Given the description of an element on the screen output the (x, y) to click on. 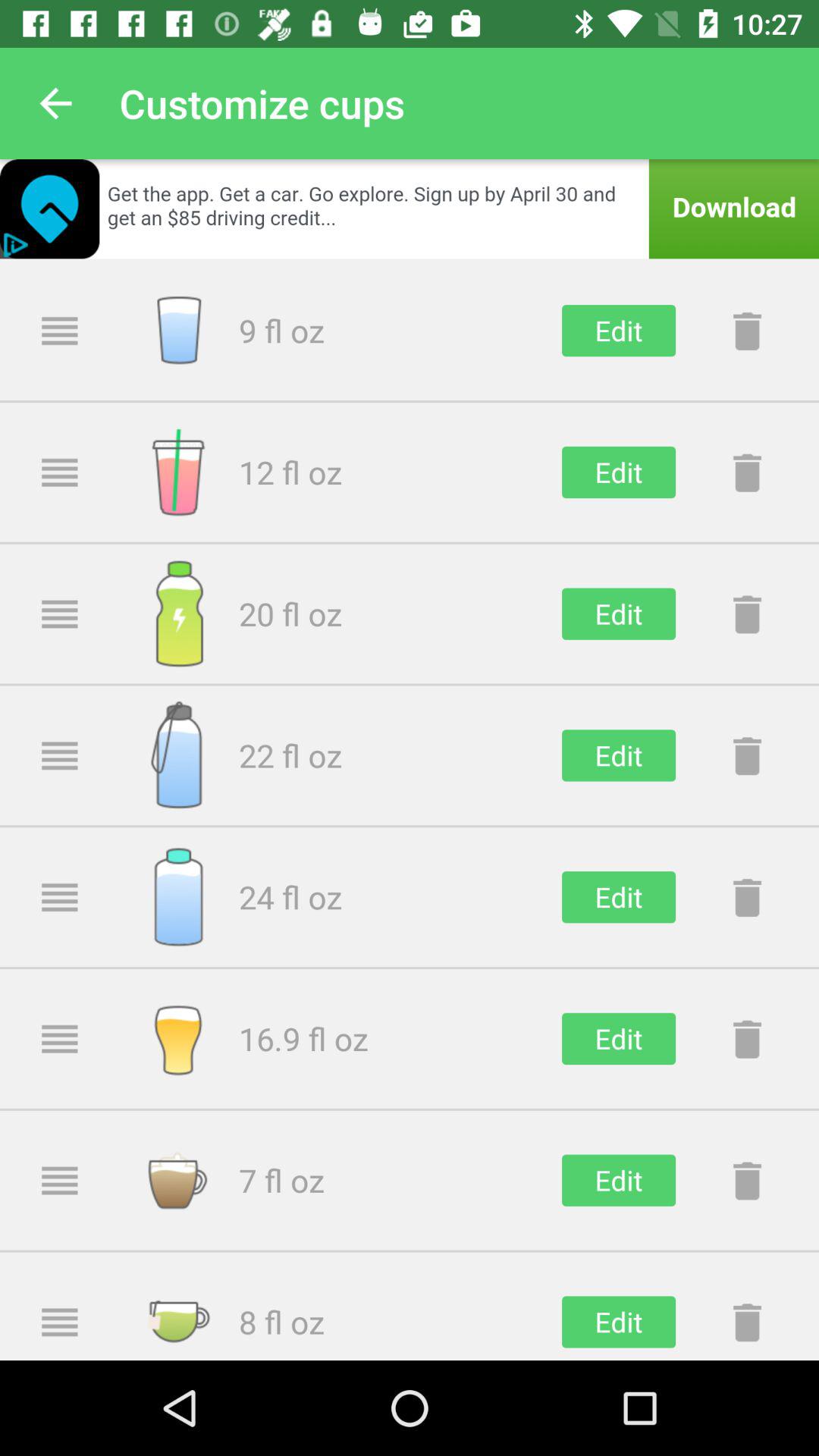
dusbin page (747, 755)
